Given the description of an element on the screen output the (x, y) to click on. 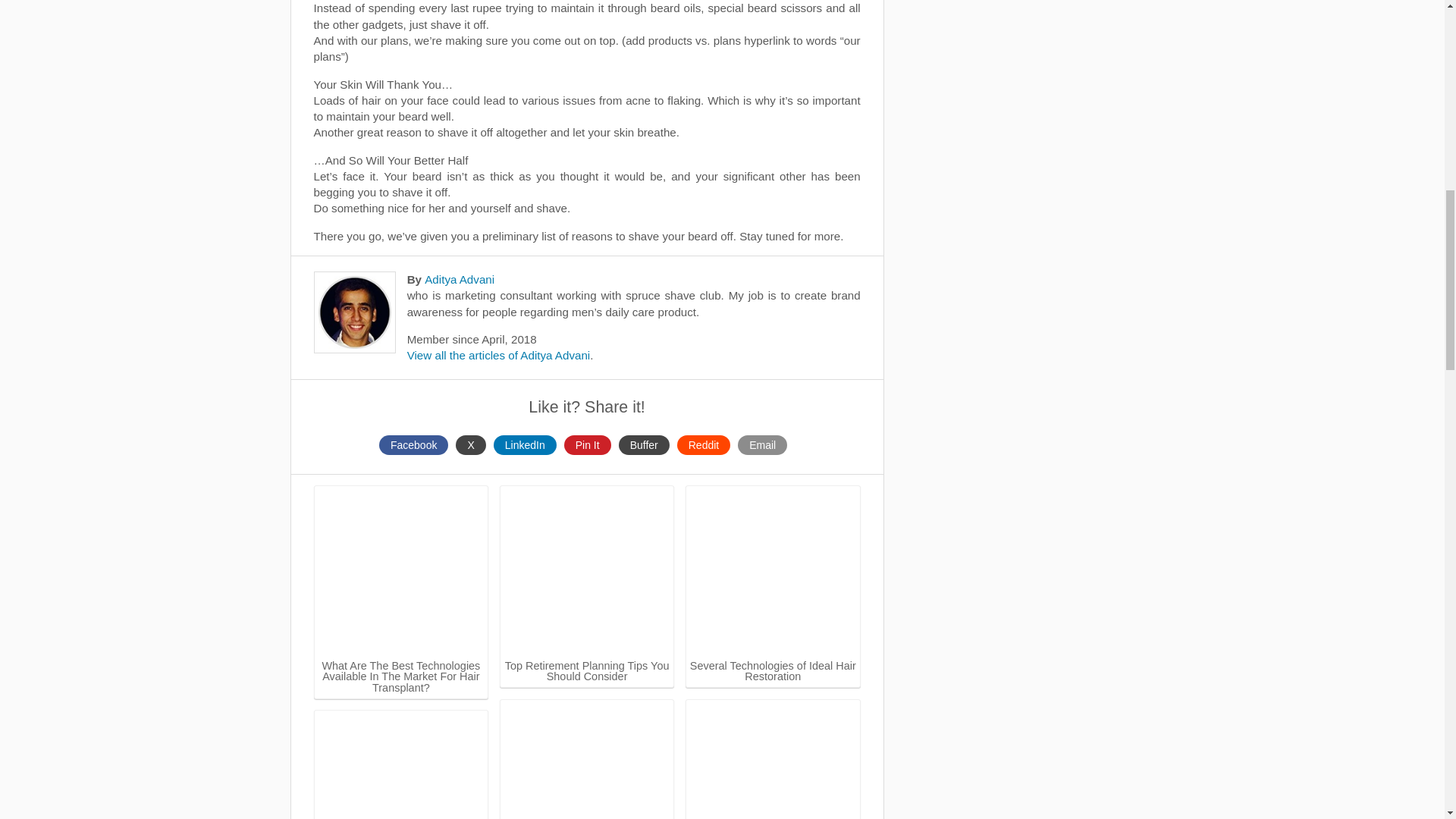
Advantages and Disadvantages of Facial Hair Restoration (401, 765)
10 Popular Hair Loss Remedies for Hair Restoration (586, 760)
Top Retirement Planning Tips You Should Consider (586, 572)
